Given the description of an element on the screen output the (x, y) to click on. 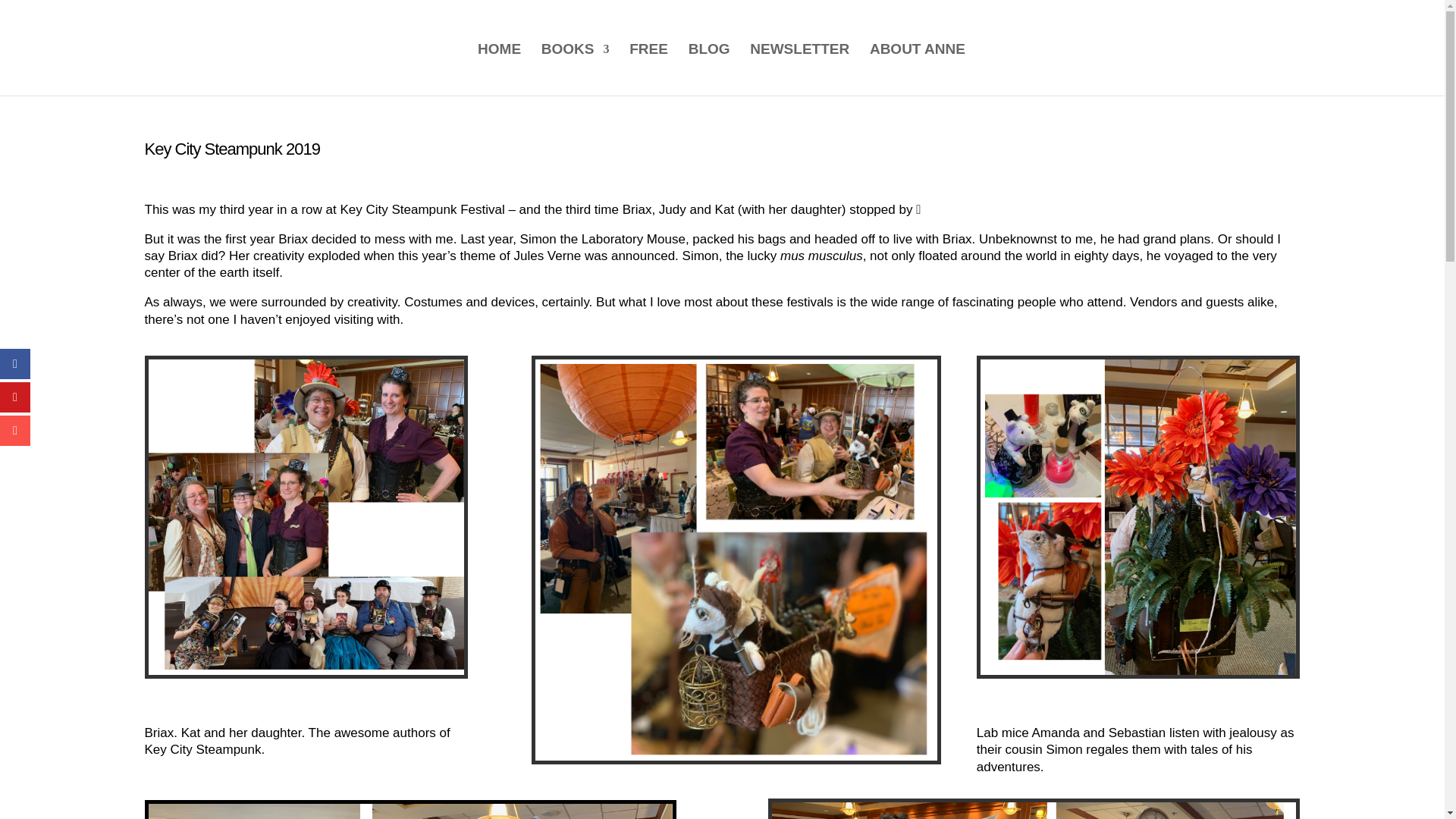
BOOKS (575, 69)
NEWSLETTER (798, 69)
ABOUT ANNE (917, 69)
